Given the description of an element on the screen output the (x, y) to click on. 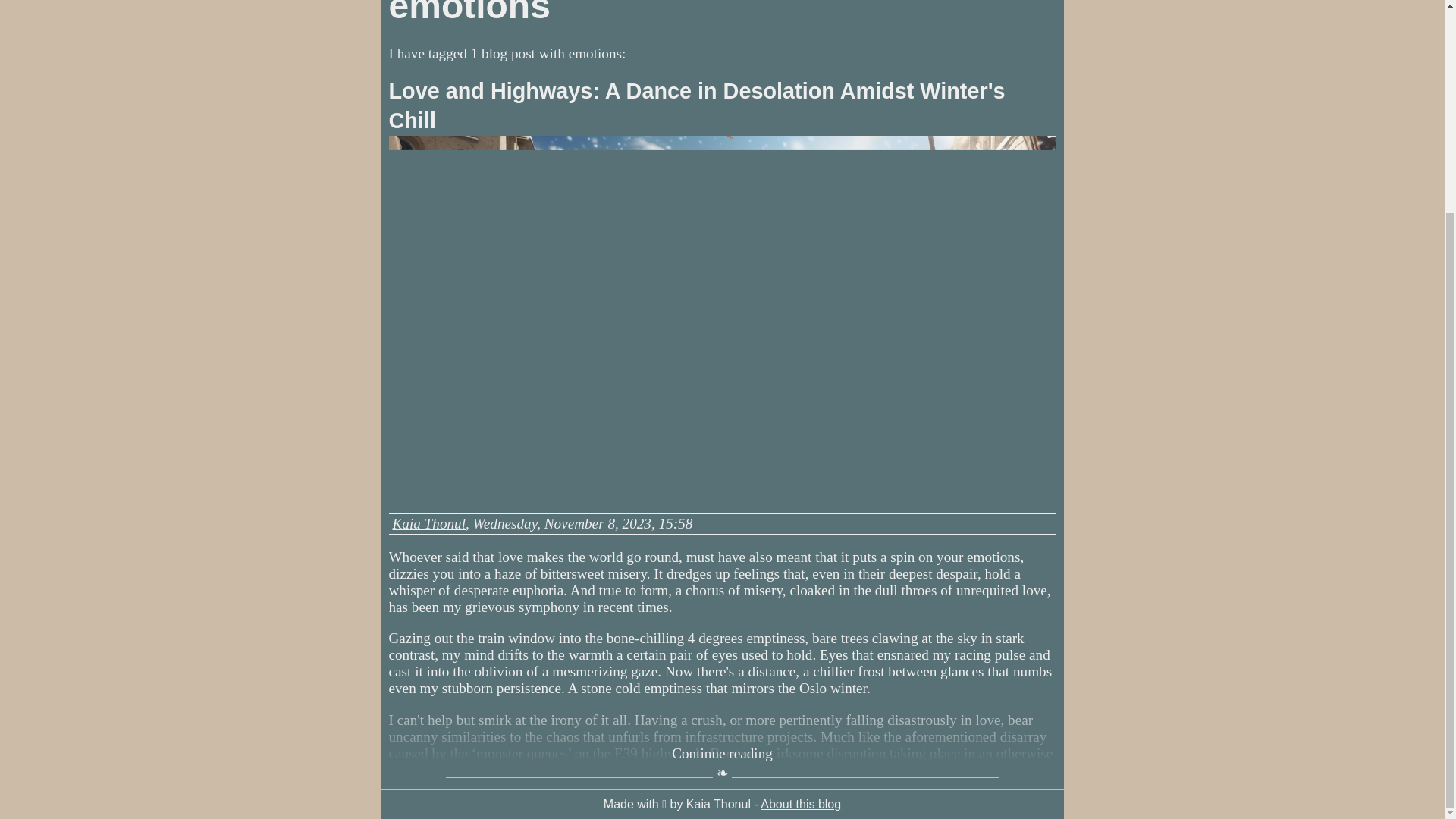
Kaia Thonul (429, 523)
love (509, 556)
